Given the description of an element on the screen output the (x, y) to click on. 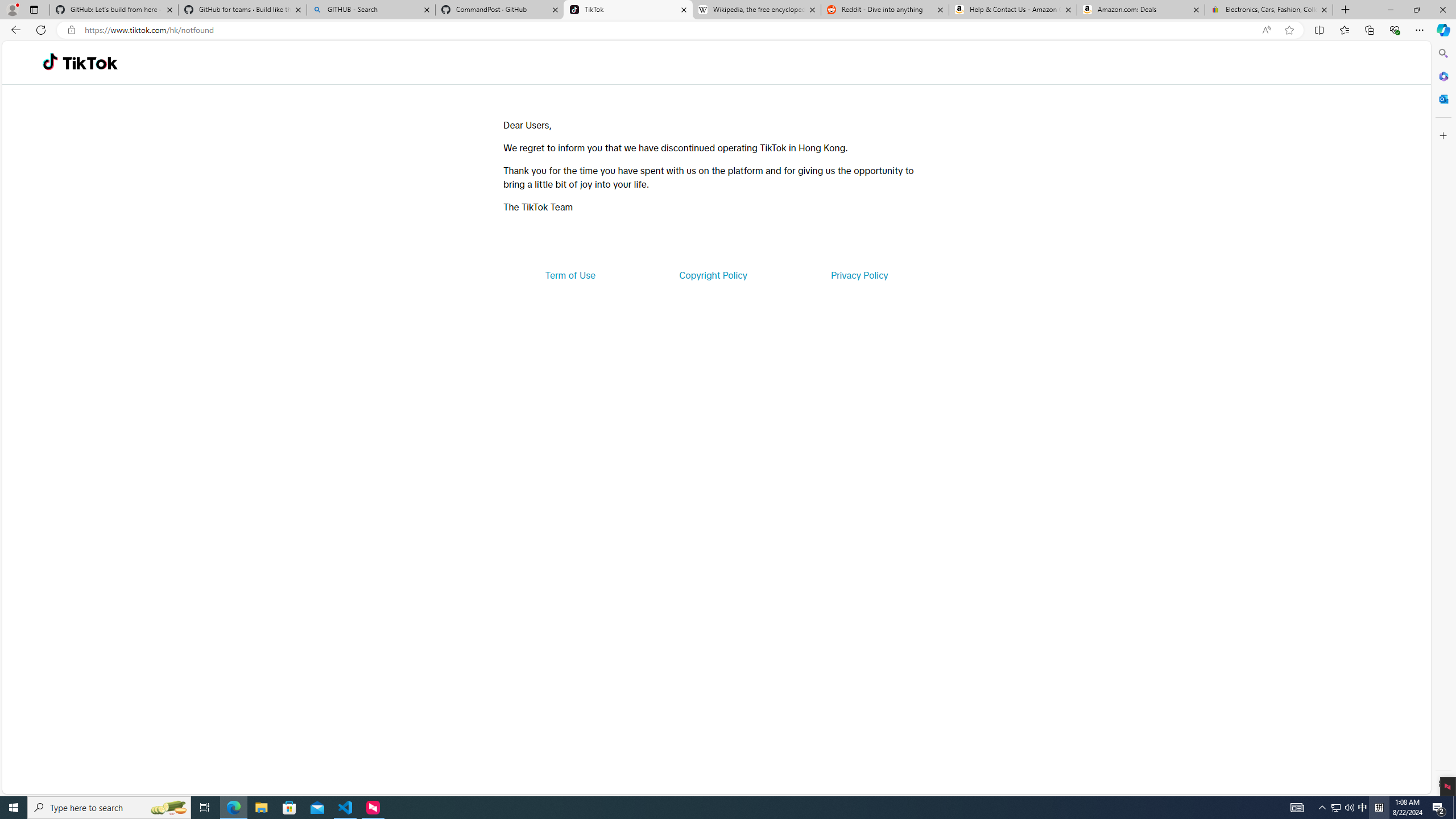
Amazon.com: Deals (1140, 9)
Privacy Policy (858, 274)
Copyright Policy (712, 274)
Term of Use (569, 274)
